Given the description of an element on the screen output the (x, y) to click on. 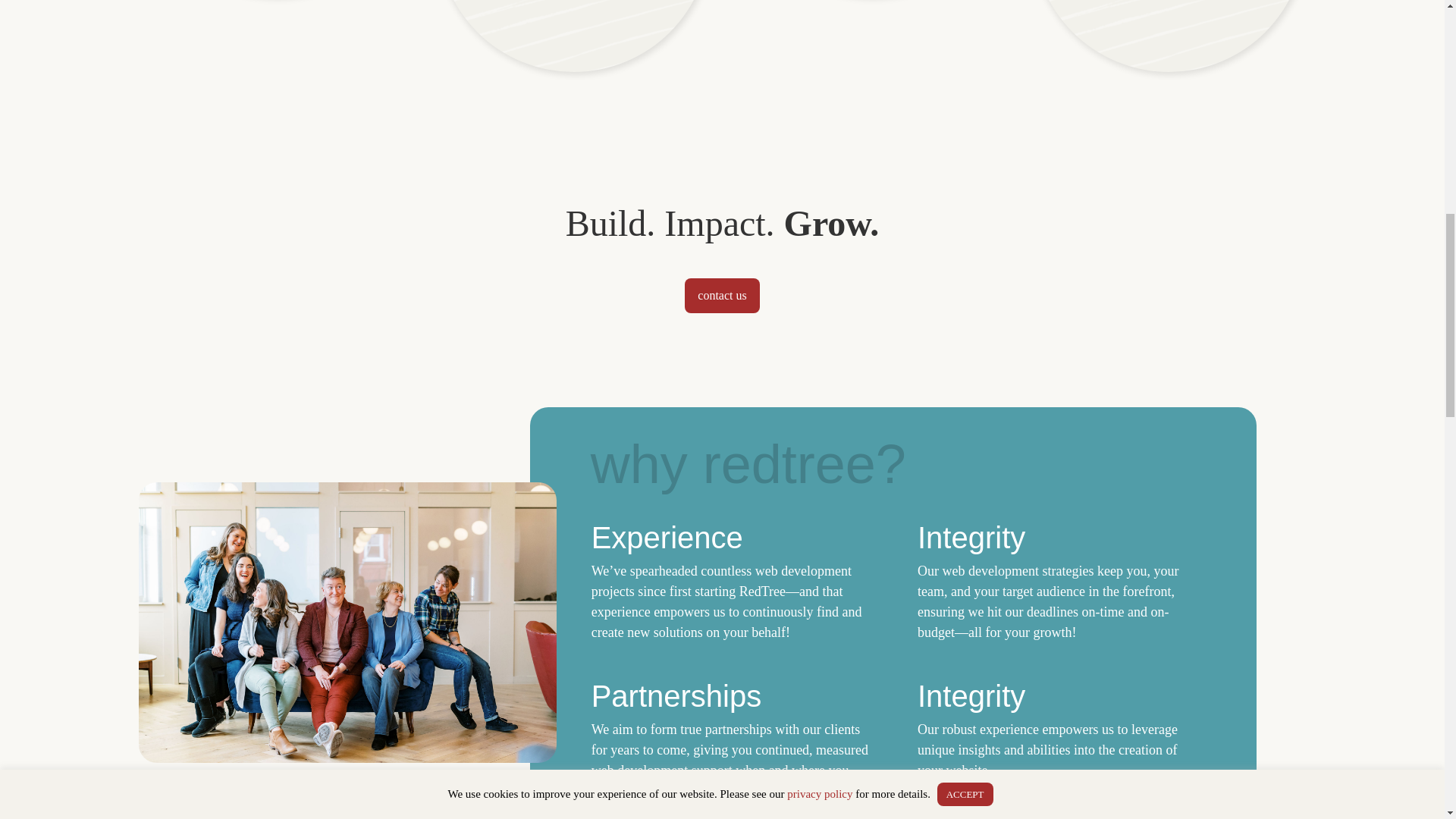
Contact (721, 294)
contact us (721, 294)
